Given the description of an element on the screen output the (x, y) to click on. 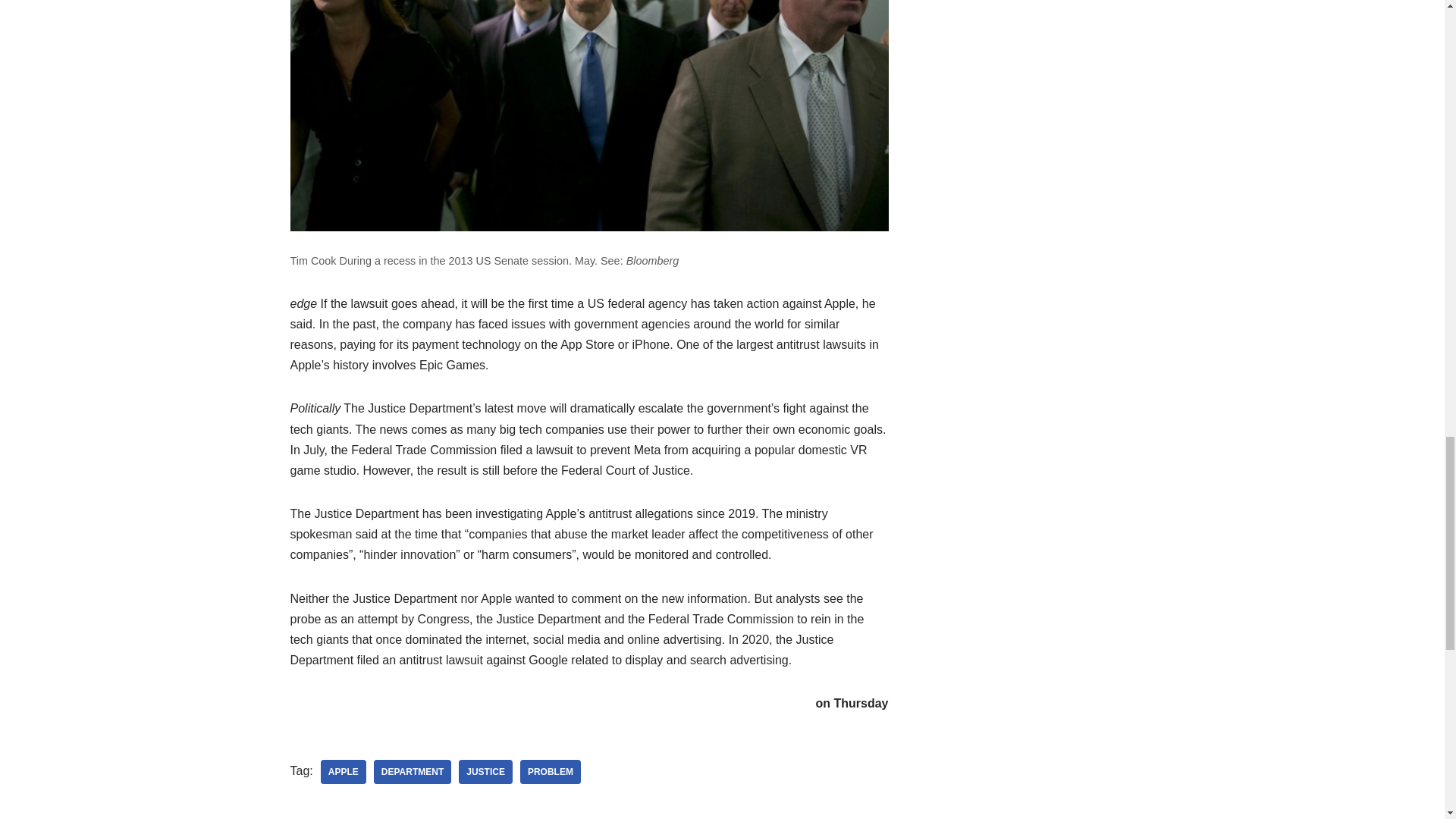
Apple (343, 771)
APPLE (343, 771)
Department (412, 771)
PROBLEM (549, 771)
JUSTICE (485, 771)
DEPARTMENT (412, 771)
Justice (485, 771)
problem (549, 771)
